Given the description of an element on the screen output the (x, y) to click on. 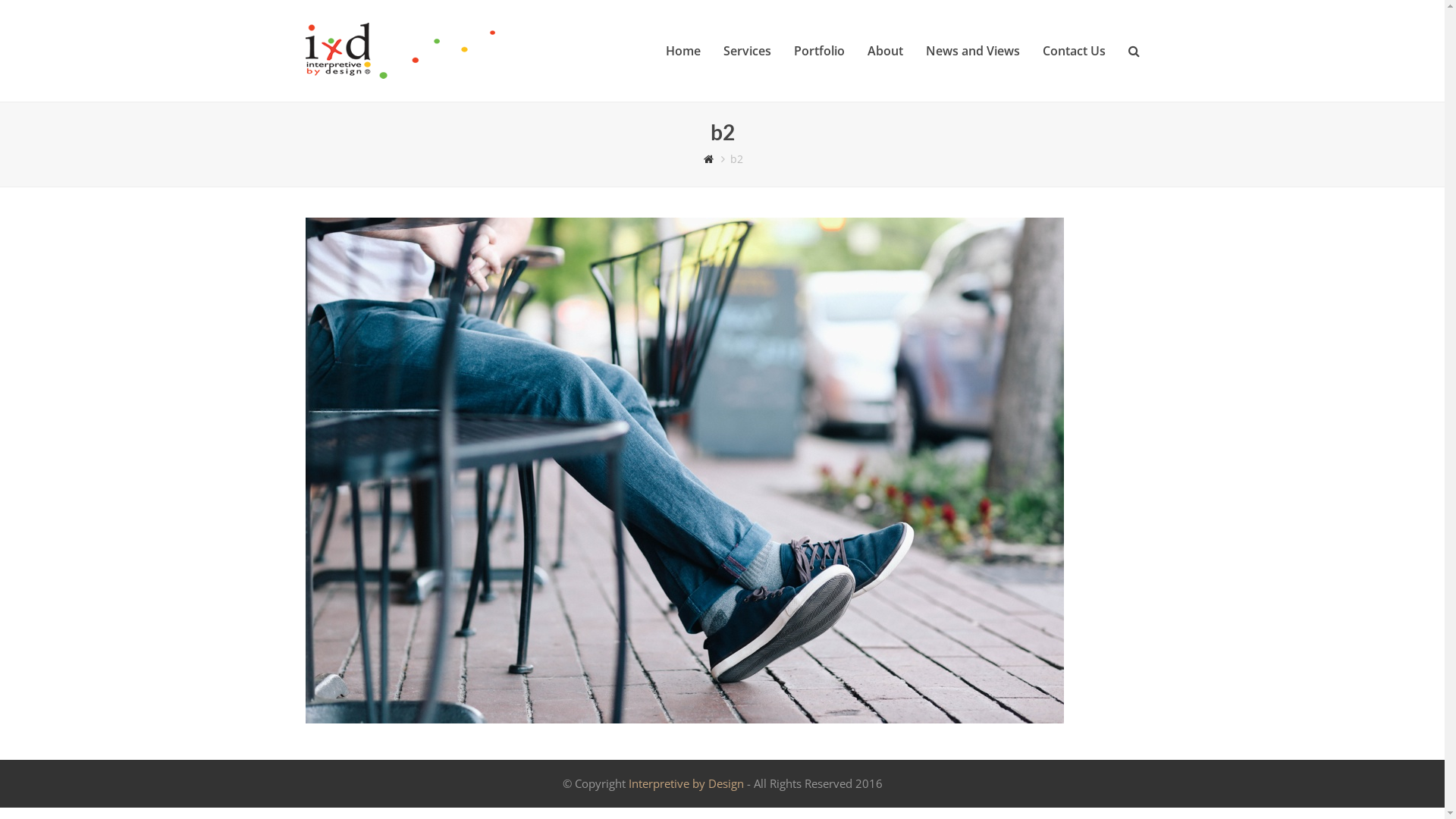
Portfolio Element type: text (819, 50)
Interpretive by Design Element type: text (685, 782)
Search Element type: text (1133, 50)
About Element type: text (884, 50)
Interpretive by Design Element type: hover (404, 48)
Contact Us Element type: text (1074, 50)
Home Element type: text (682, 50)
Services Element type: text (746, 50)
News and Views Element type: text (972, 50)
Interpretive by Design Element type: hover (708, 158)
